Given the description of an element on the screen output the (x, y) to click on. 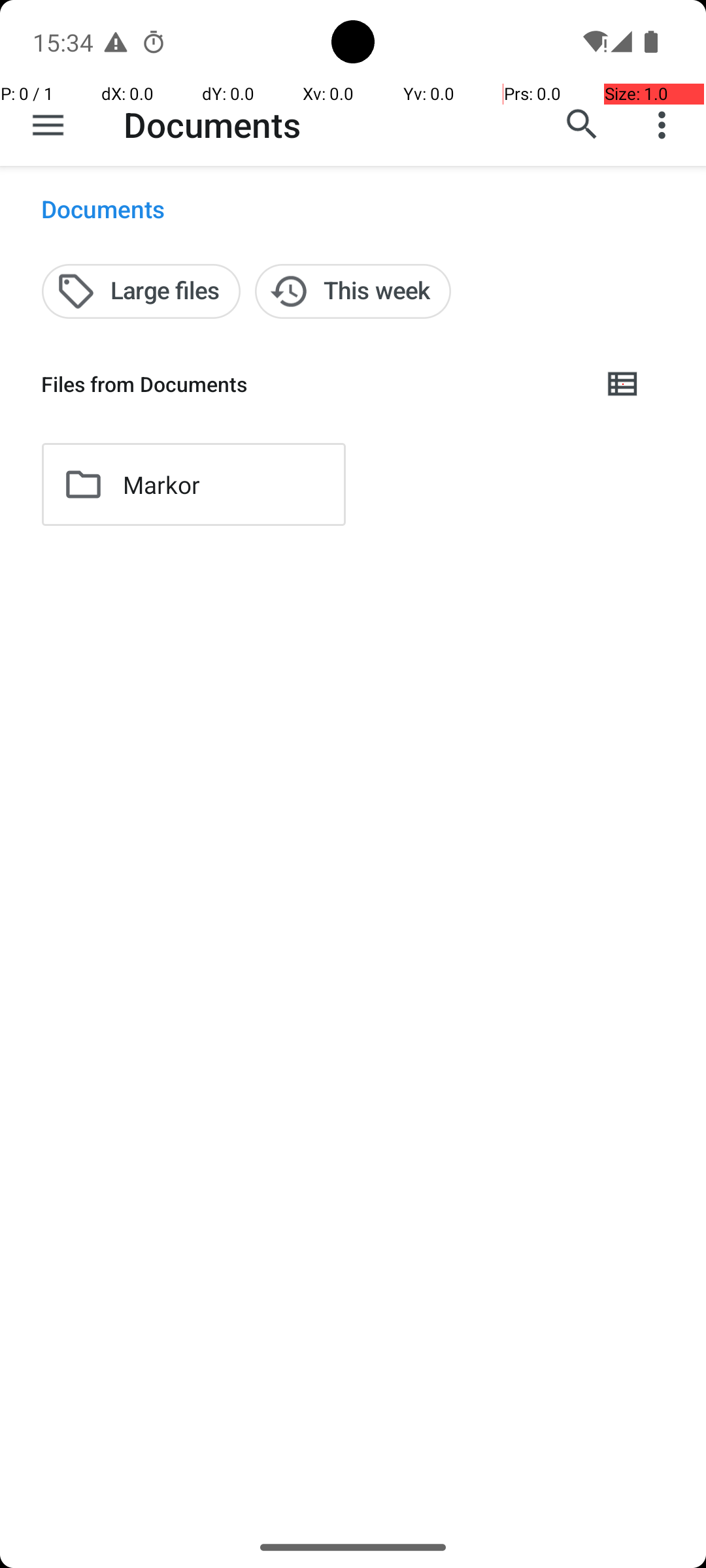
Files from Documents Element type: android.widget.TextView (311, 383)
